Given the description of an element on the screen output the (x, y) to click on. 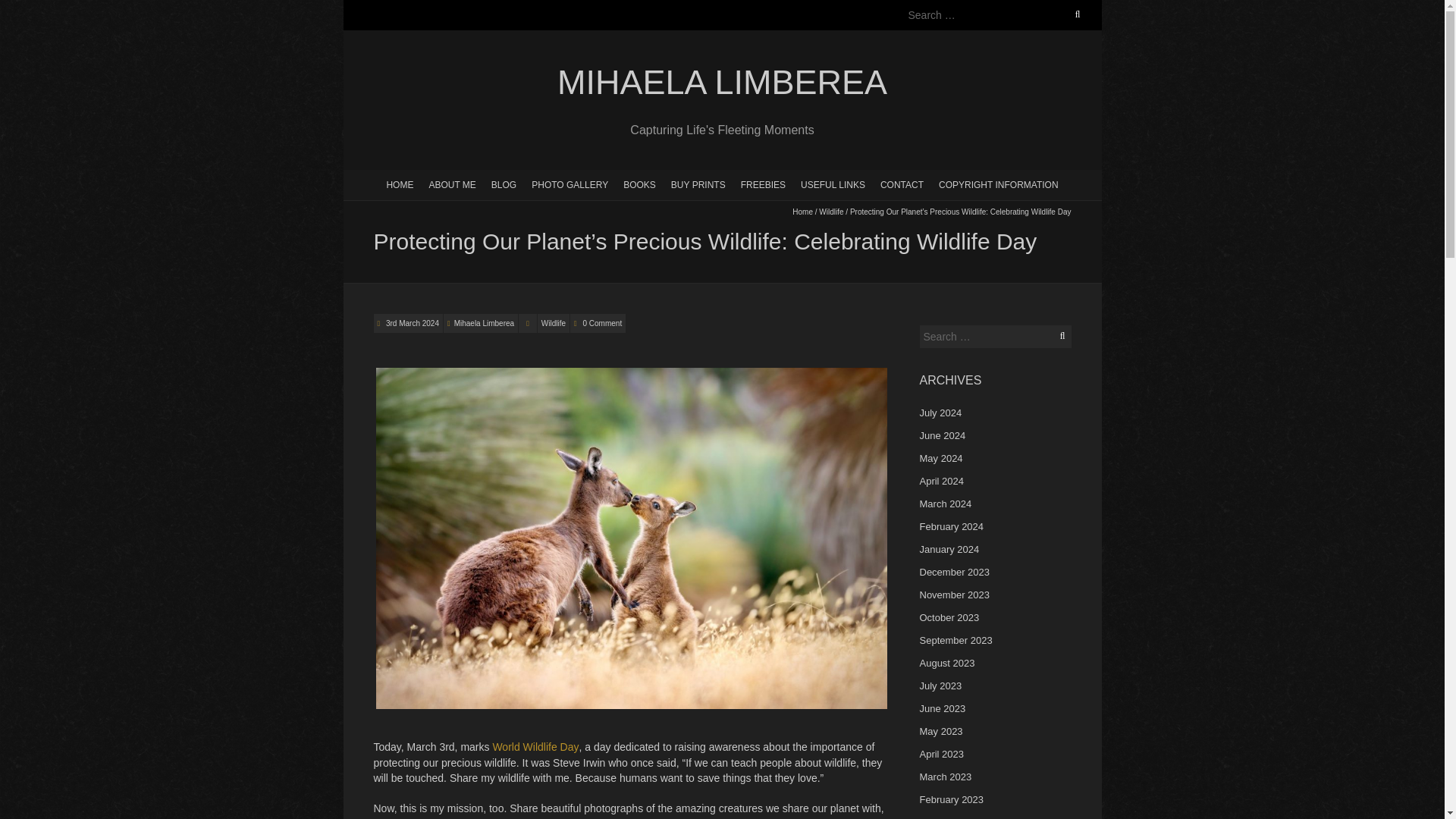
0 Comment (601, 323)
PHOTO GALLERY (569, 184)
BOOKS (639, 184)
CONTACT (901, 184)
View all posts by Mihaela Limberea (484, 323)
HOME (399, 184)
Mihaela Limberea (721, 82)
FREEBIES (763, 184)
Wildlife (830, 212)
Wildlife (553, 322)
BLOG (503, 184)
Category (527, 322)
Search (28, 9)
ABOUT ME (451, 184)
BUY PRINTS (698, 184)
